Given the description of an element on the screen output the (x, y) to click on. 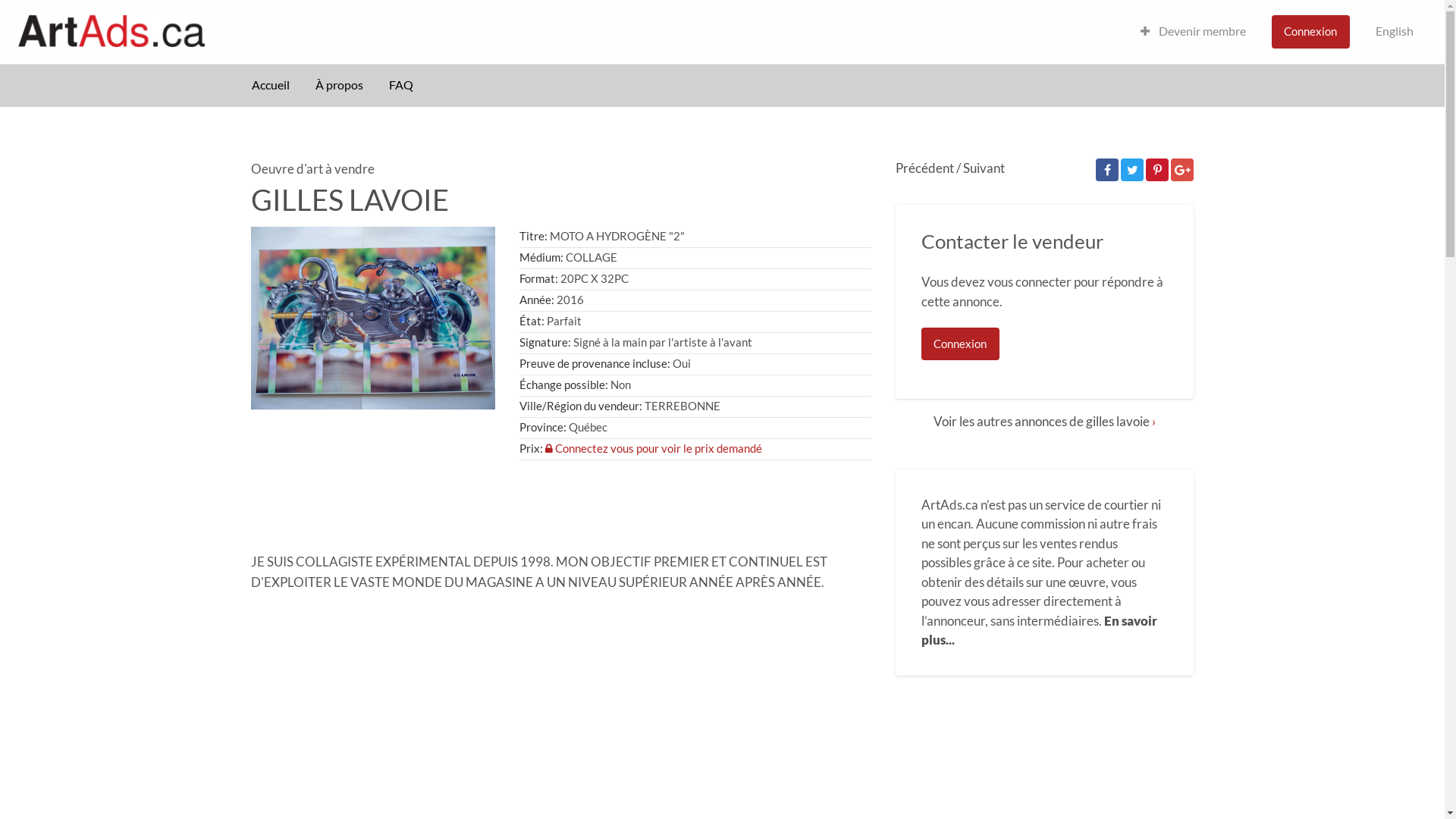
Suivant Element type: text (983, 167)
Connexion Element type: text (1310, 31)
English Element type: text (1394, 31)
En savoir plus... Element type: text (1039, 630)
Devenir membre Element type: text (1192, 31)
Accueil Element type: text (270, 85)
Connexion Element type: text (1310, 31)
GILLES LAVOIE Element type: text (349, 199)
FAQ Element type: text (401, 85)
Connexion Element type: text (960, 343)
GILLES LAVOIE Element type: hover (373, 318)
ArtAds.ca Element type: text (280, 28)
